Given the description of an element on the screen output the (x, y) to click on. 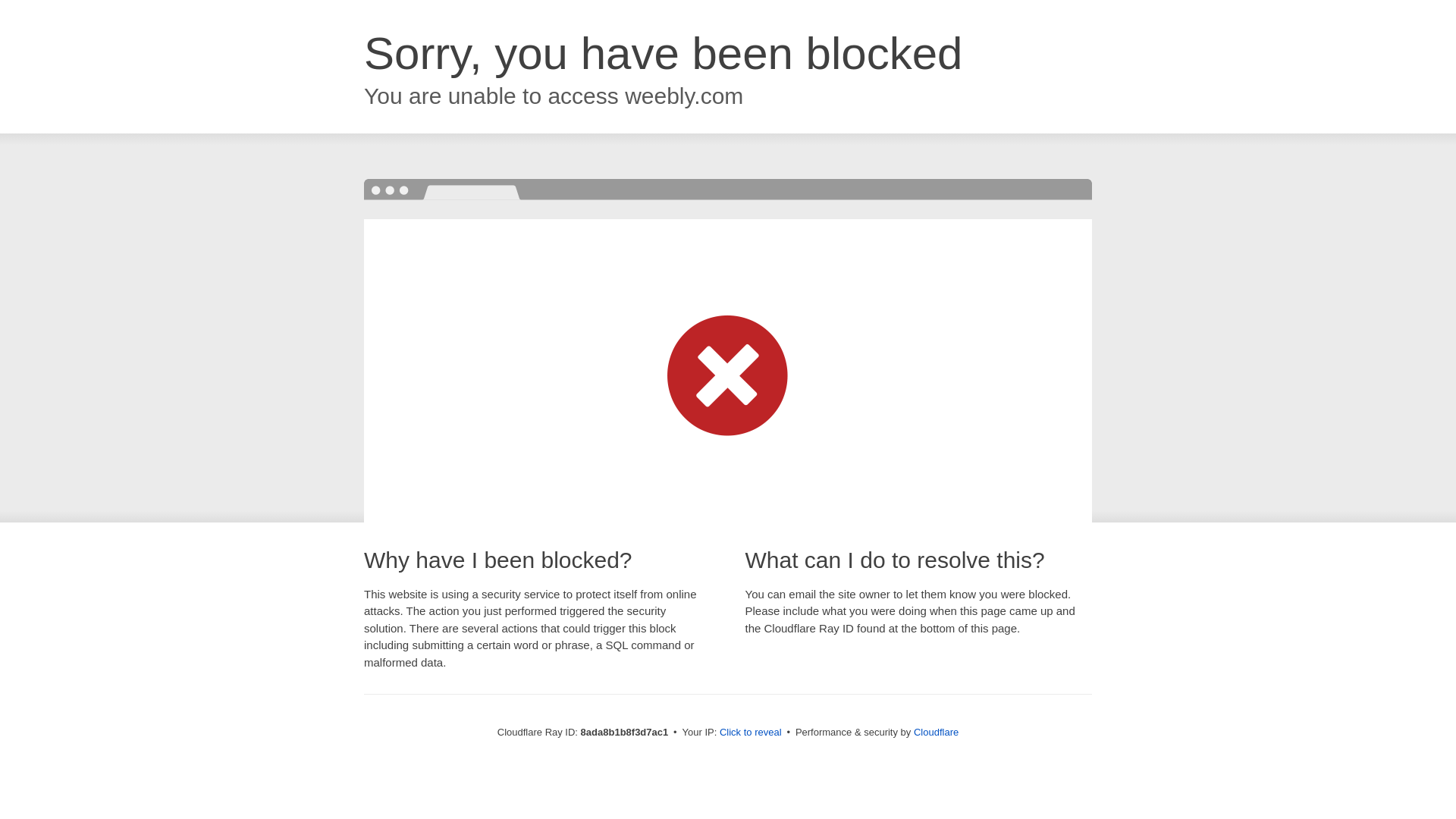
Cloudflare (936, 731)
Click to reveal (750, 732)
